Given the description of an element on the screen output the (x, y) to click on. 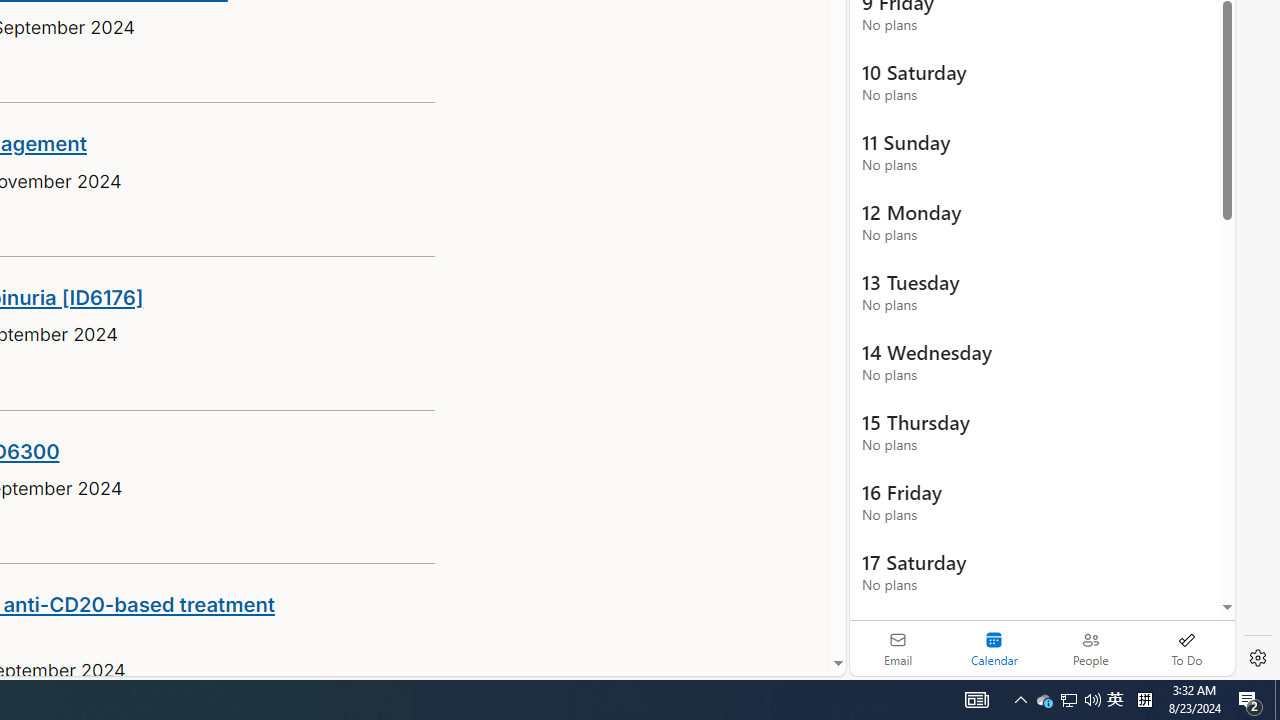
To Do (1186, 648)
Selected calendar module. Date today is 22 (994, 648)
Email (898, 648)
People (1090, 648)
